Given the description of an element on the screen output the (x, y) to click on. 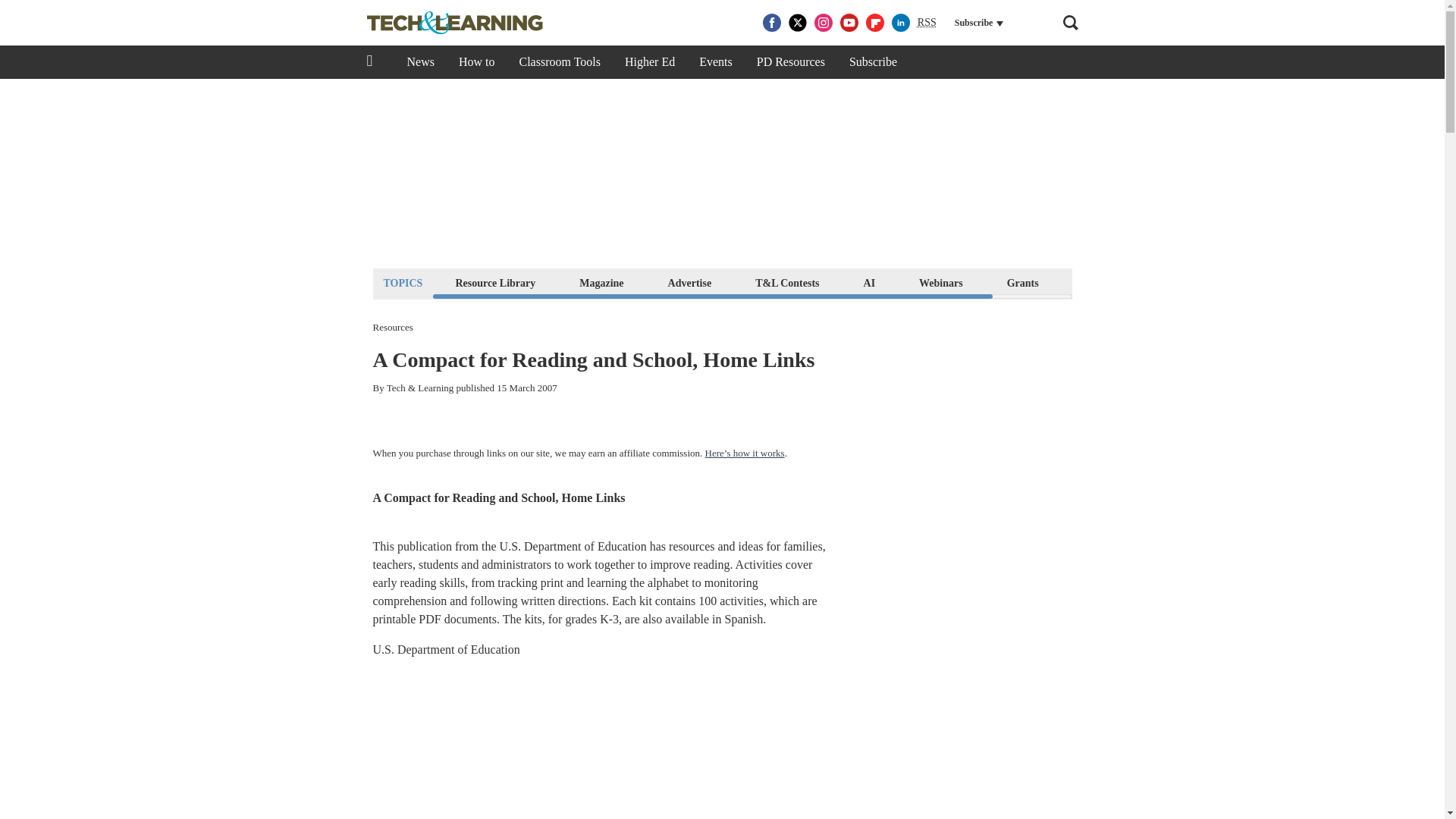
Really Simple Syndication (926, 21)
Subscribe (872, 61)
Grants (1022, 282)
What to Buy (1111, 282)
RSS (926, 22)
News (419, 61)
A Compact for Reading and School, Home Links (499, 497)
Webinars (941, 282)
AI (869, 282)
Resource Library (494, 282)
